Given the description of an element on the screen output the (x, y) to click on. 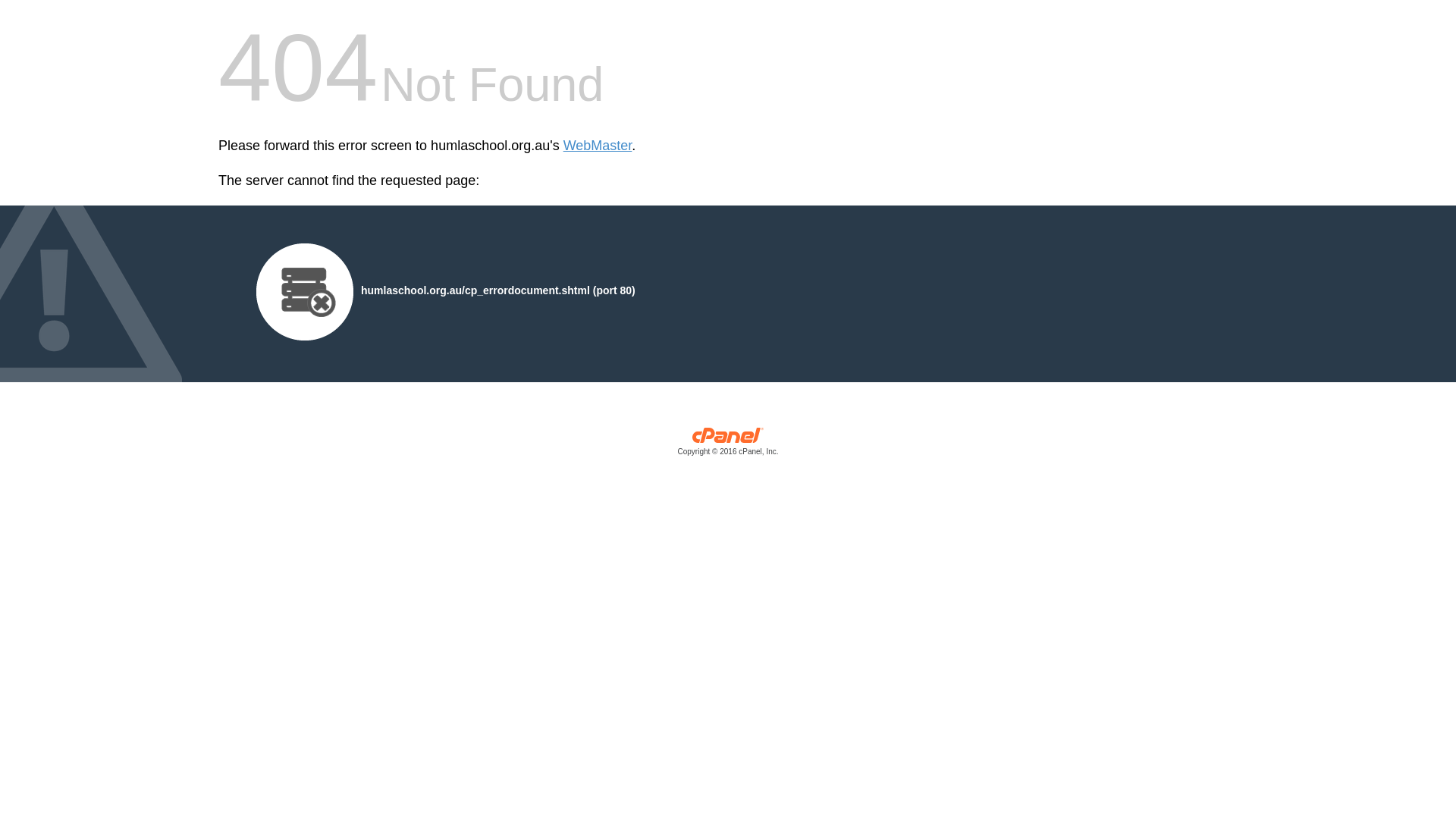
WebMaster Element type: text (597, 145)
